Given the description of an element on the screen output the (x, y) to click on. 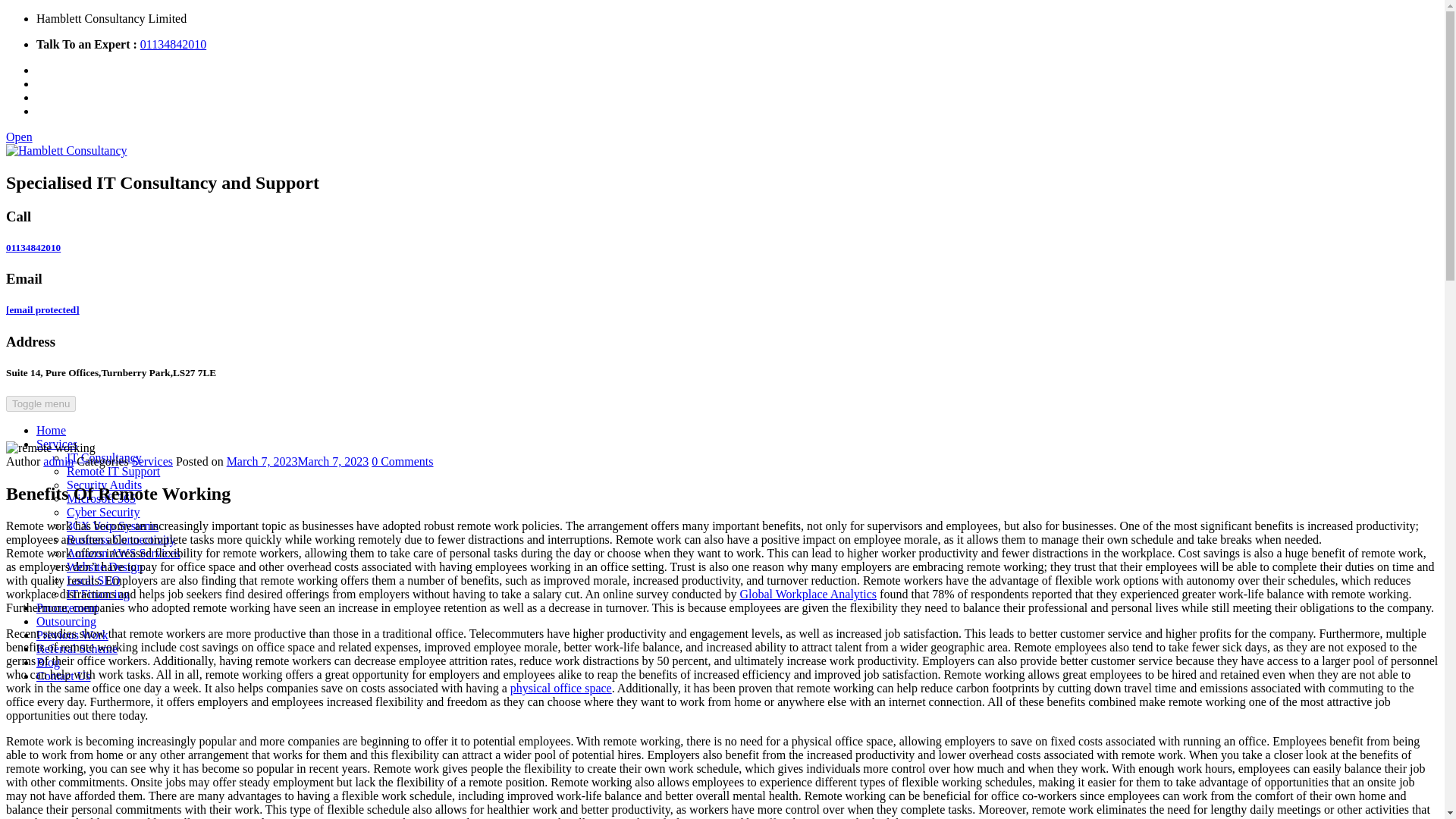
IT Financing (97, 594)
physical office space (561, 687)
Services (56, 443)
Procurement (67, 607)
01134842010 (33, 247)
01134842010 (172, 43)
Open (18, 136)
Services (152, 461)
Contact Us (63, 675)
admin (58, 461)
Microsoft 365 (100, 498)
Global Workplace Analytics (807, 594)
Previous Work (71, 634)
Home (50, 430)
IT Consultancy (103, 457)
